Given the description of an element on the screen output the (x, y) to click on. 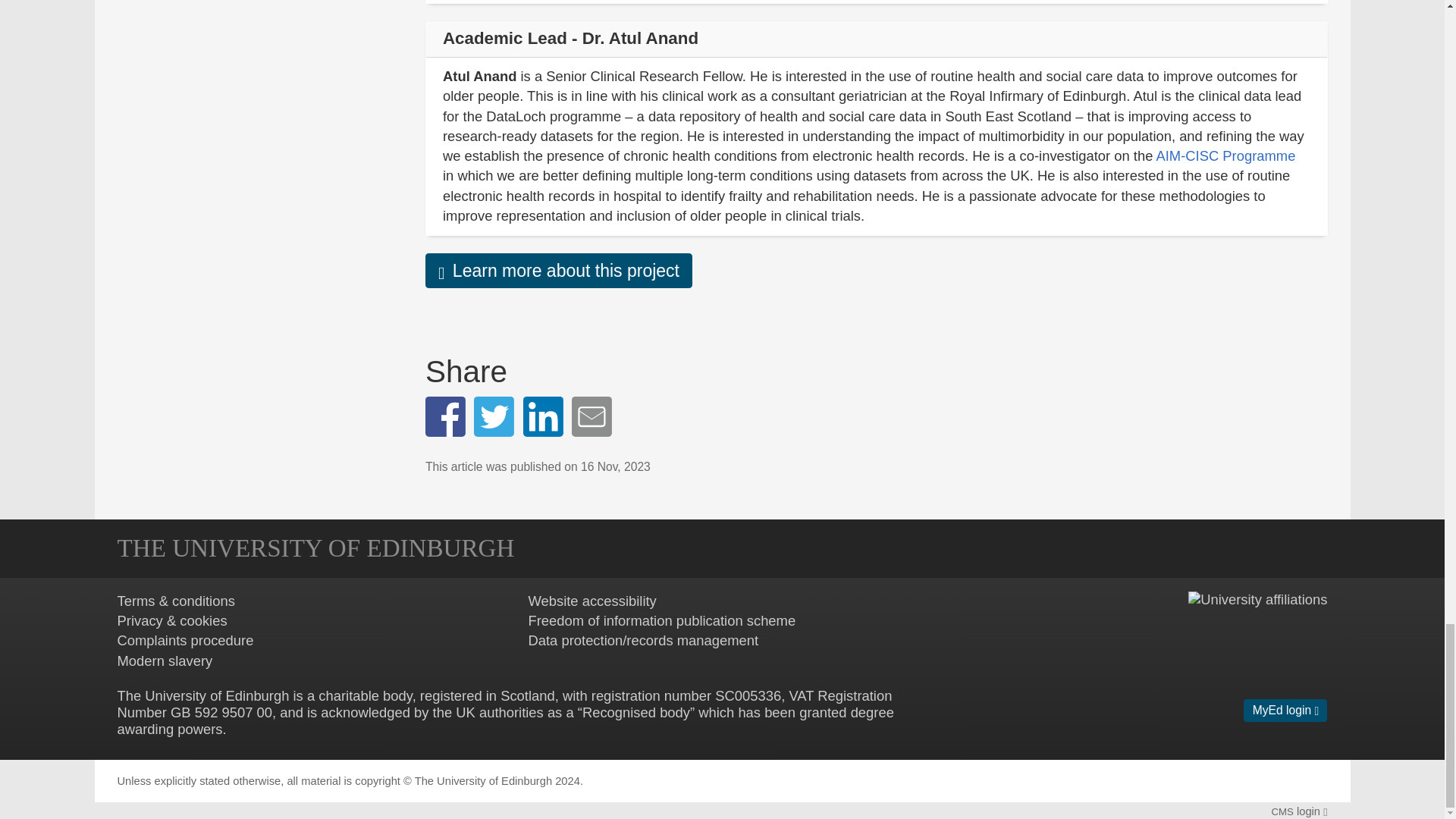
AIM-CISC Programme (1225, 155)
Learn more about this project (559, 270)
